Given the description of an element on the screen output the (x, y) to click on. 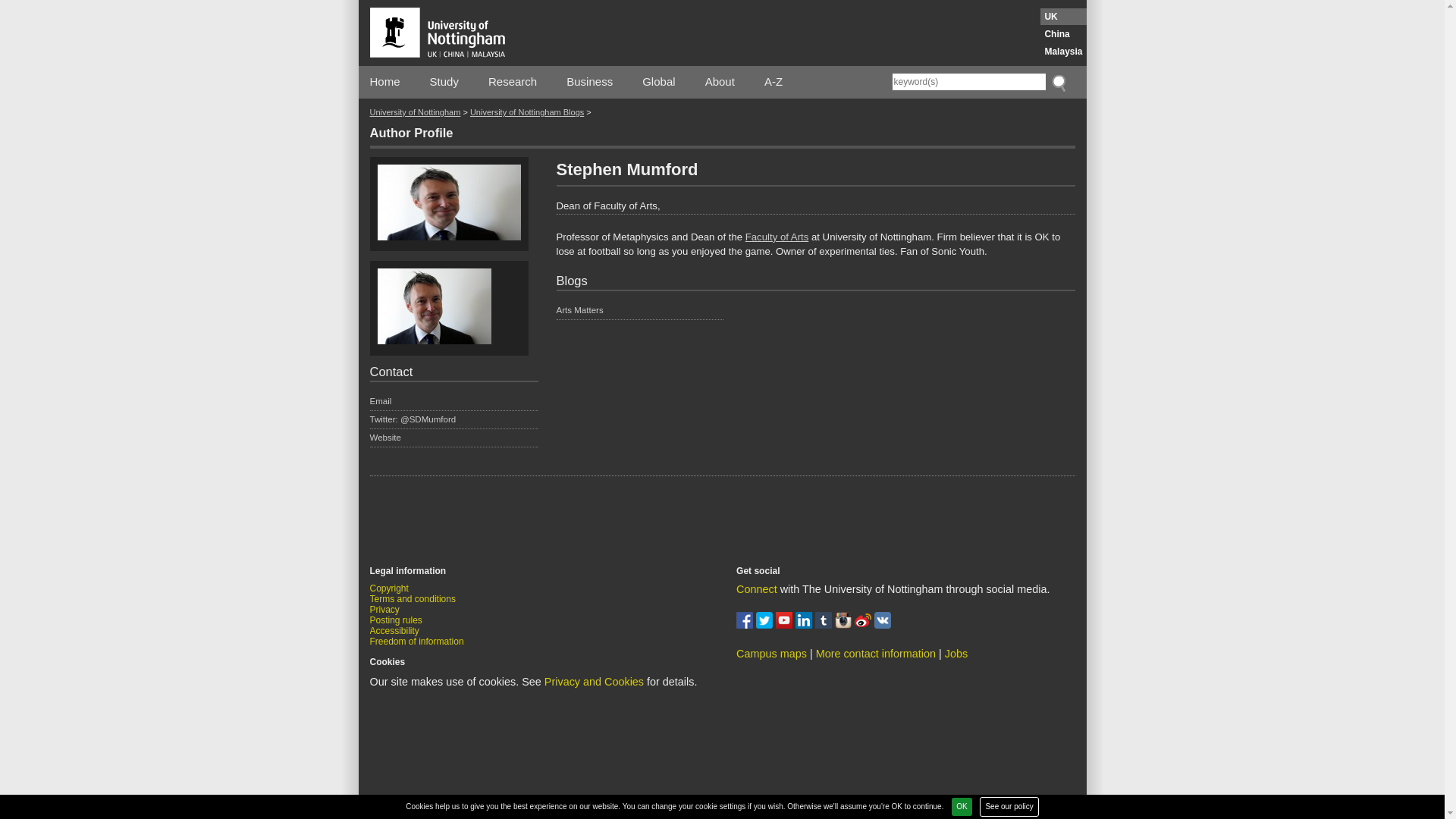
Privacy (383, 609)
Email (453, 401)
Find us on Instagram (844, 624)
Website (453, 439)
Faculty of Arts (777, 236)
Posting rules (395, 620)
Research (512, 81)
Global (658, 81)
Find us on Weibo (864, 624)
View our campus maps (771, 653)
Posting rules (395, 620)
University of Nottingham (415, 112)
Get Social with The University of Nottingham (756, 589)
Home (384, 81)
Business (589, 81)
